Given the description of an element on the screen output the (x, y) to click on. 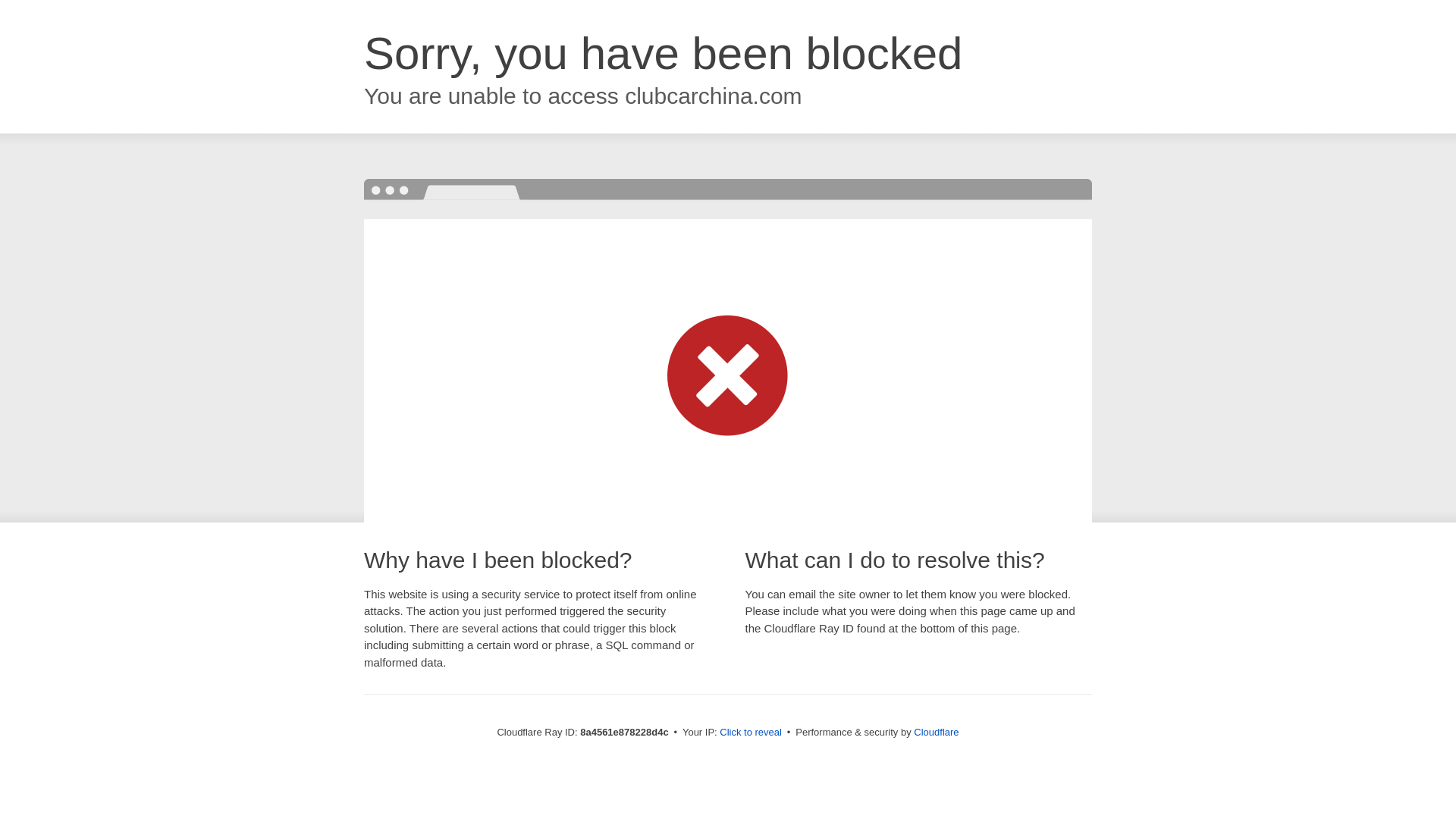
Click to reveal (750, 732)
Cloudflare (936, 731)
